Given the description of an element on the screen output the (x, y) to click on. 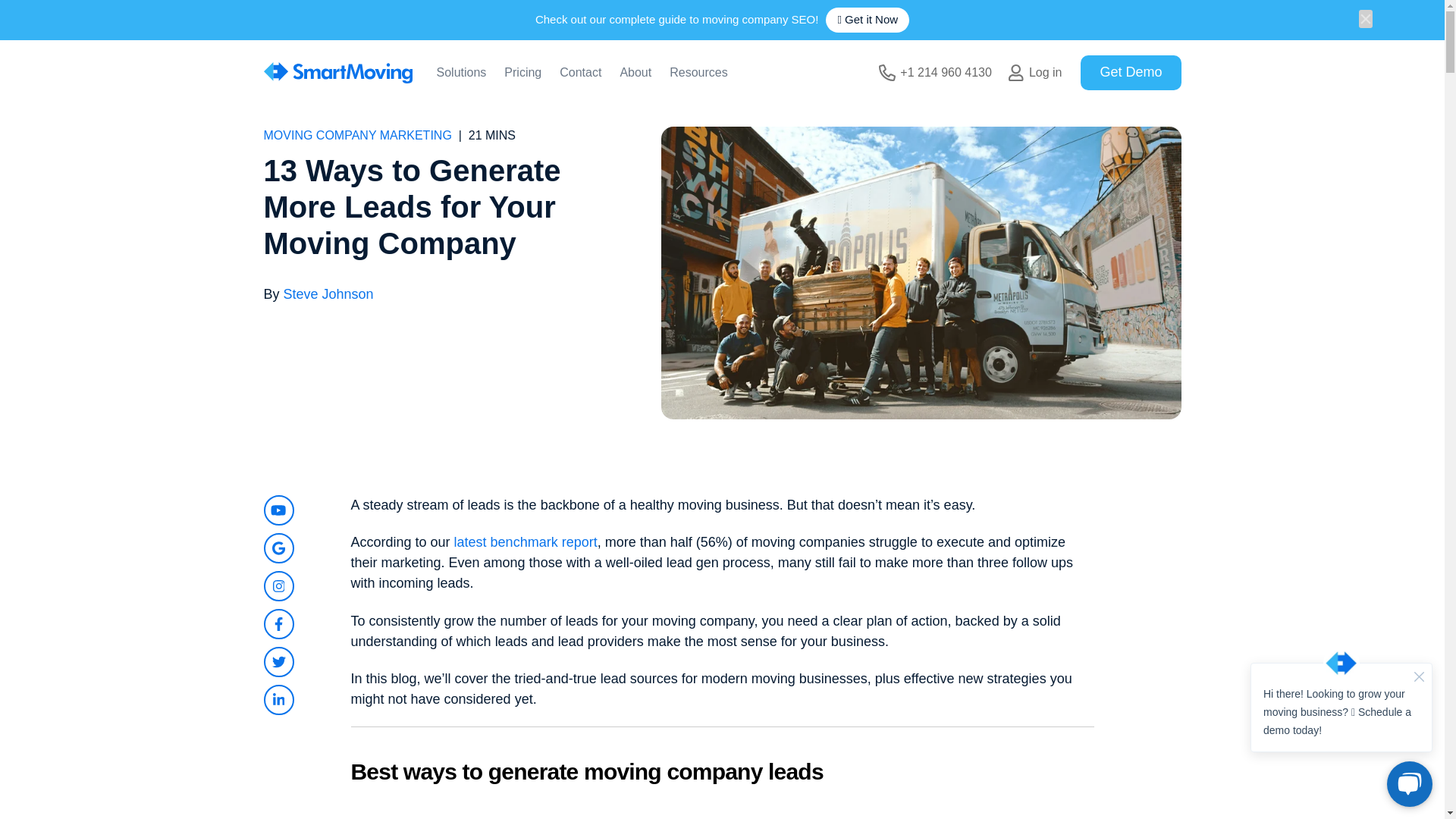
Pricing (522, 73)
Get Demo (1130, 72)
Contact (580, 73)
About (635, 73)
Resources (697, 73)
Solutions (461, 73)
Get Demo (1130, 72)
Log in (1035, 72)
Smart moving (337, 72)
